Given the description of an element on the screen output the (x, y) to click on. 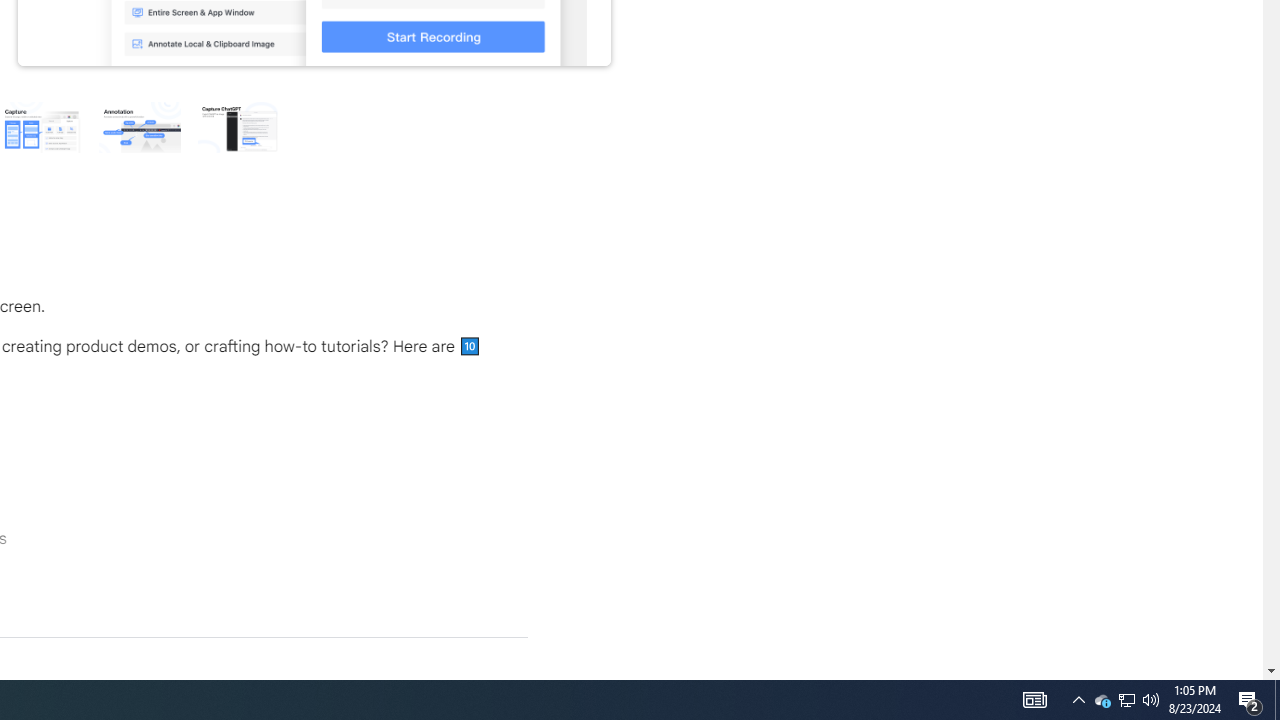
Preview slide 6 (238, 126)
Preview slide 5 (139, 126)
Preview slide 4 (40, 126)
